Given the description of an element on the screen output the (x, y) to click on. 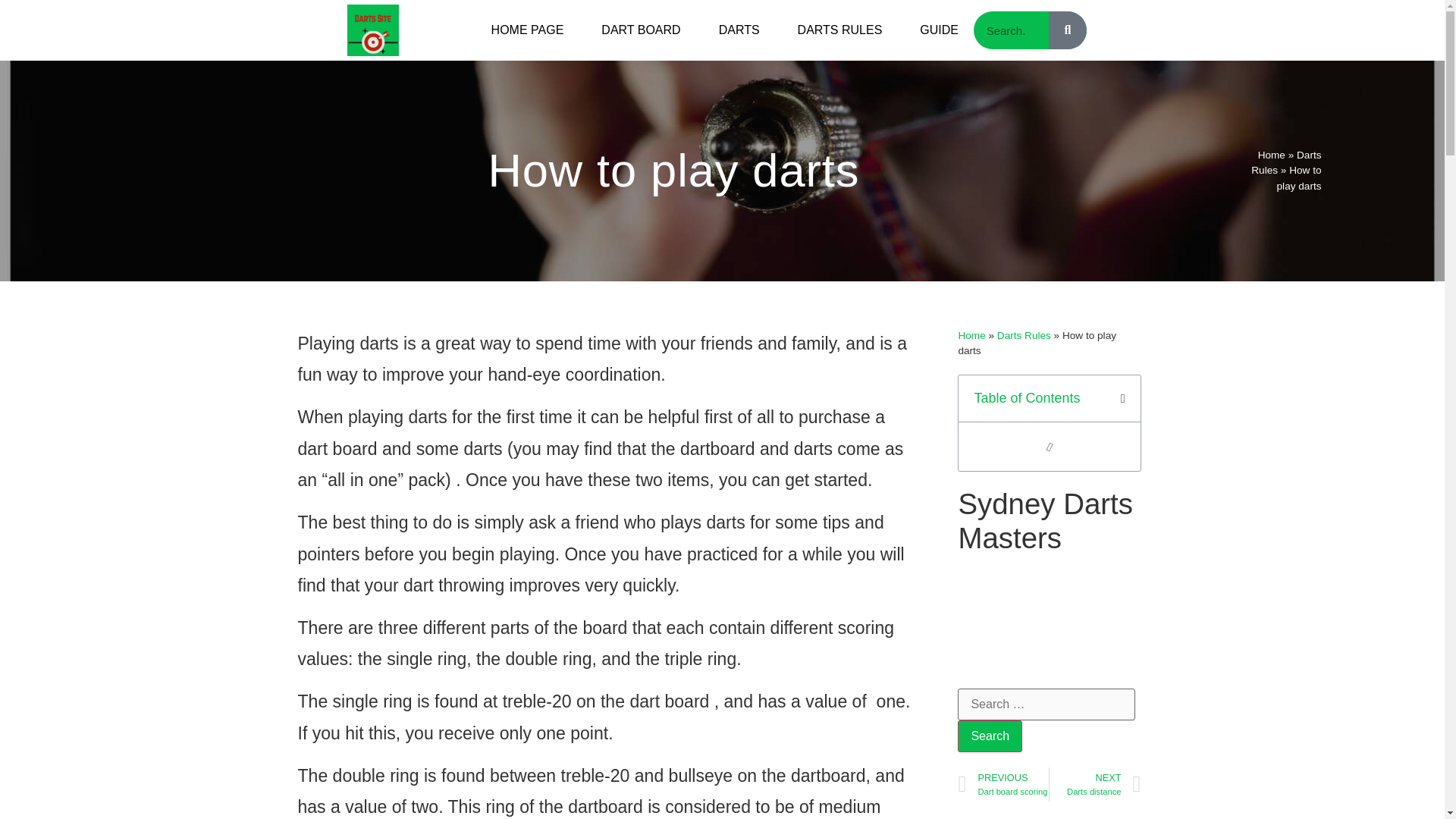
DARTS RULES (839, 29)
DARTS (739, 29)
GUIDE (939, 29)
DART BOARD (640, 29)
HOME PAGE (528, 29)
Search (990, 736)
Search (990, 736)
